Given the description of an element on the screen output the (x, y) to click on. 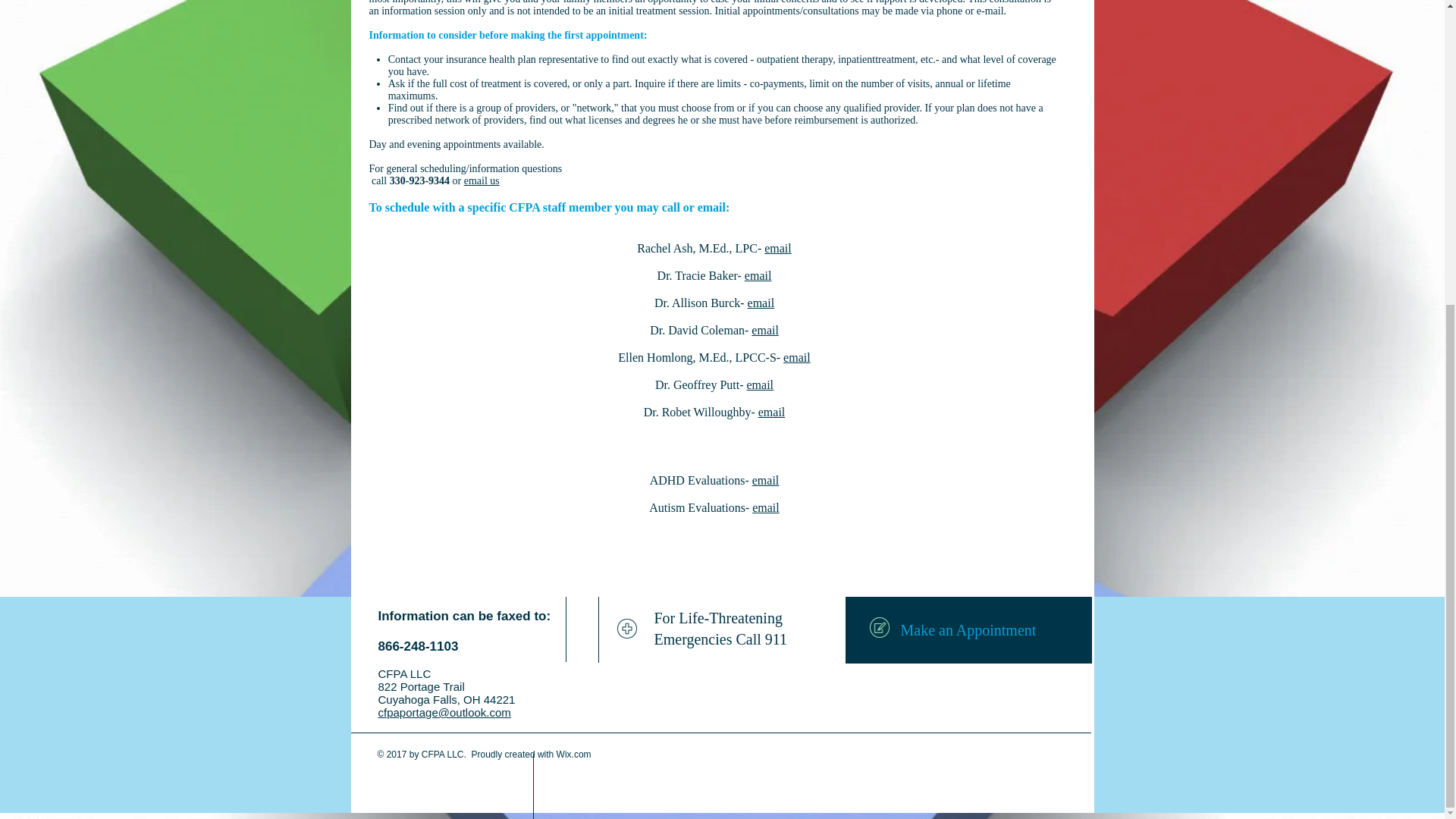
email (765, 480)
email us (481, 180)
email (761, 302)
email (772, 411)
email (796, 357)
email (765, 507)
email (757, 275)
email (760, 384)
email (764, 329)
email (778, 247)
